Given the description of an element on the screen output the (x, y) to click on. 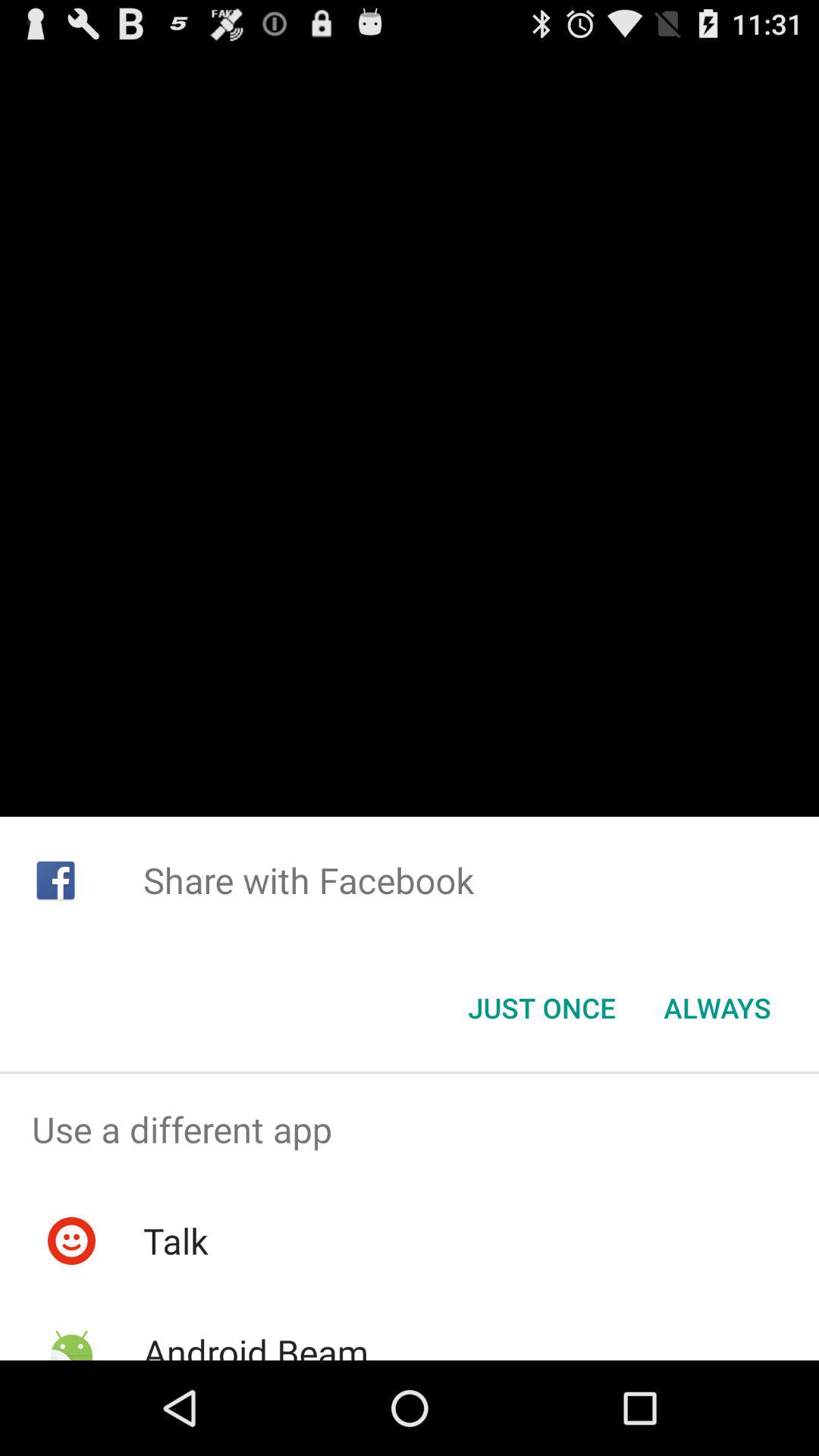
launch the android beam item (255, 1344)
